Given the description of an element on the screen output the (x, y) to click on. 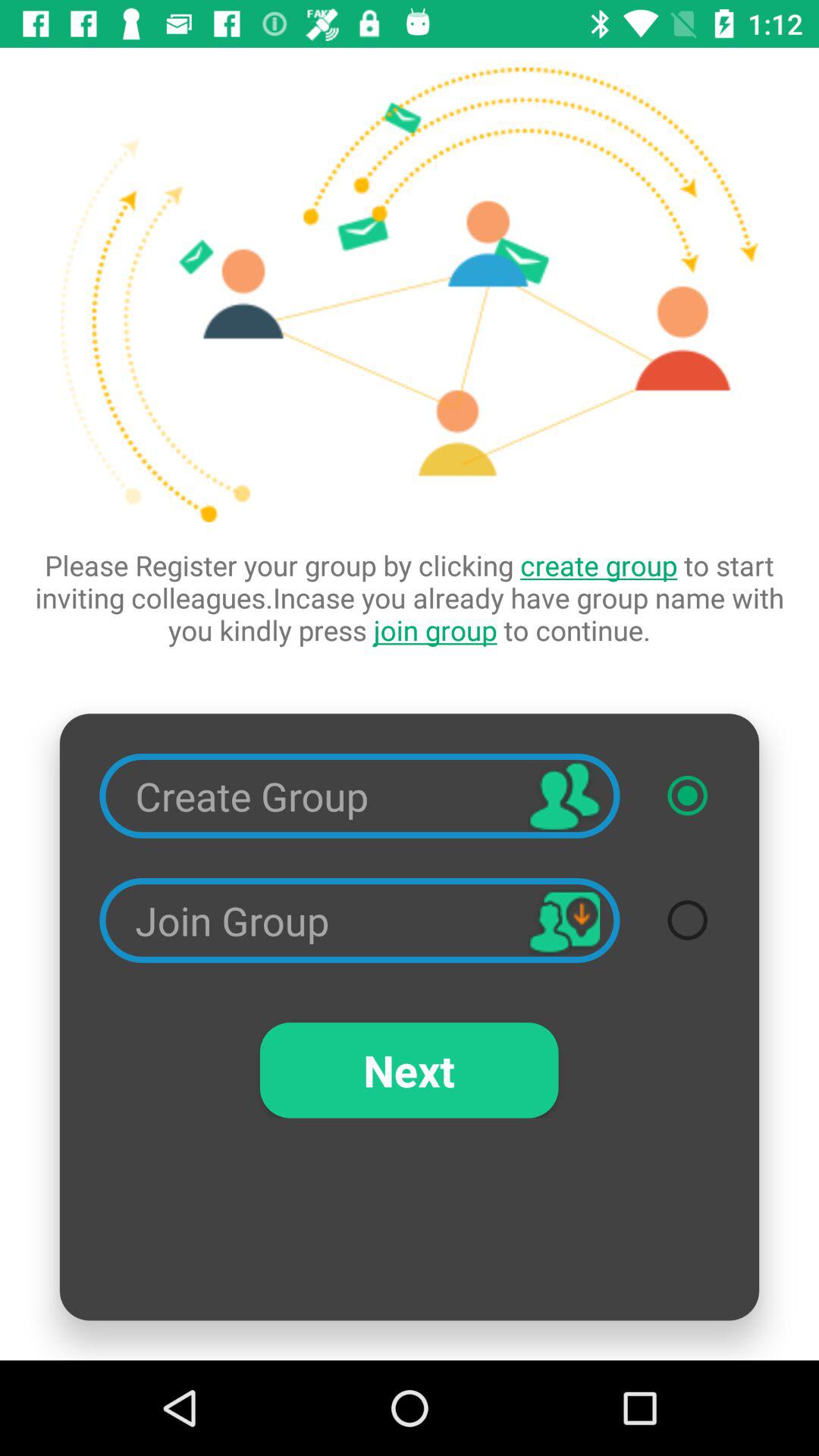
flip to the next (408, 1070)
